Given the description of an element on the screen output the (x, y) to click on. 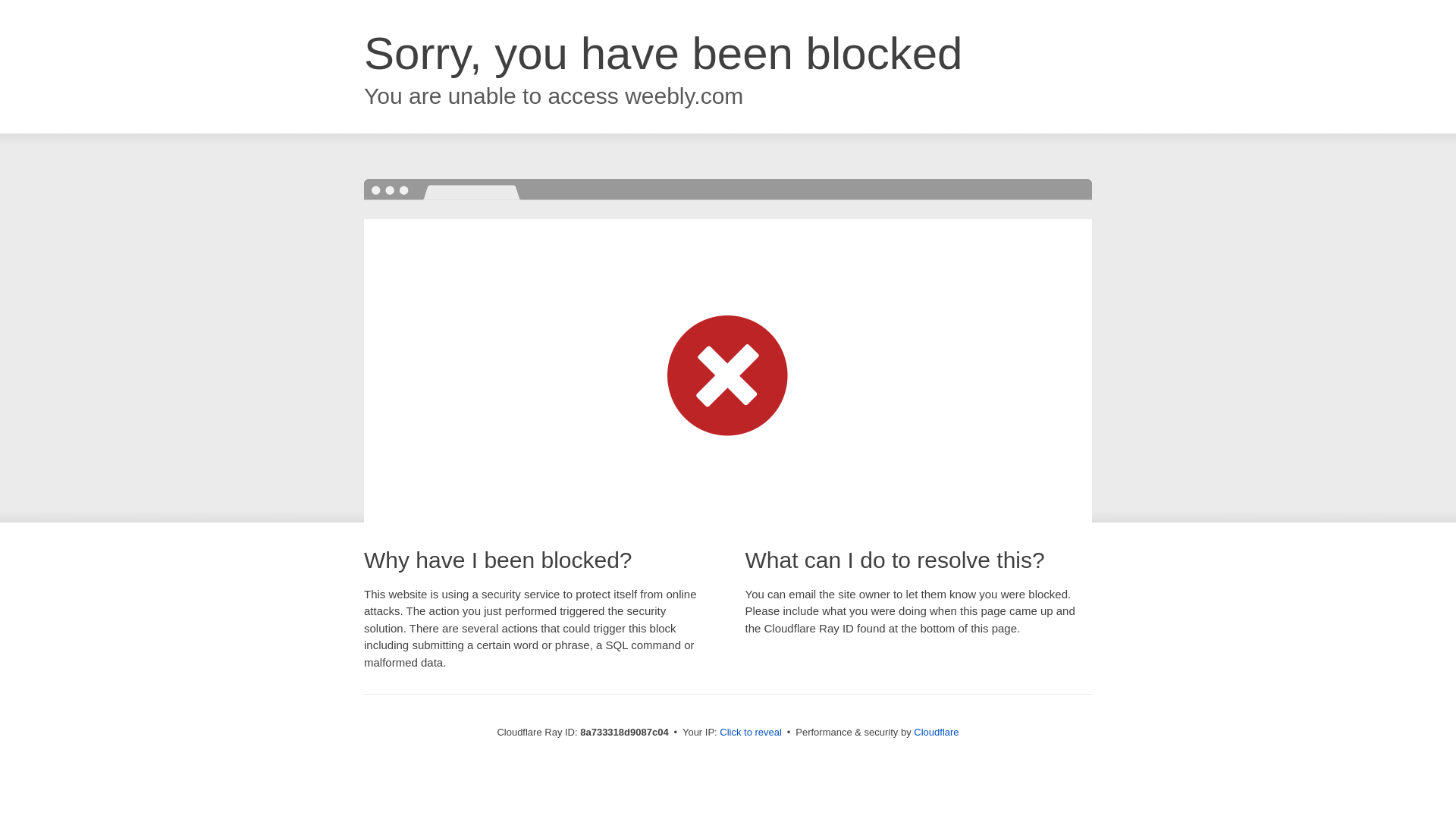
Click to reveal (750, 732)
Cloudflare (936, 731)
